Given the description of an element on the screen output the (x, y) to click on. 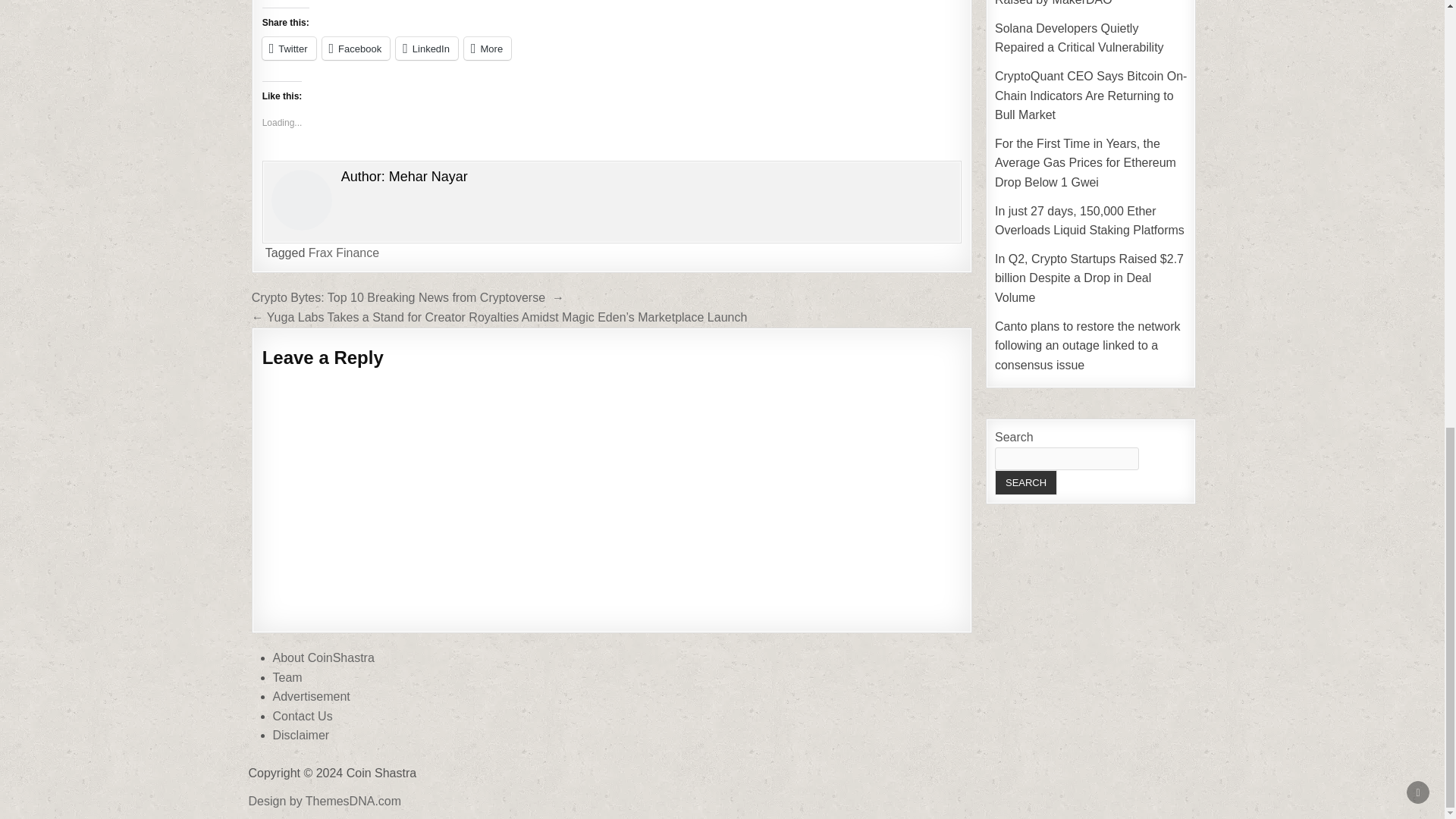
Frax Finance (343, 252)
Mehar Nayar (427, 176)
Click to share on LinkedIn (427, 47)
Click to share on Facebook (355, 47)
LinkedIn (427, 47)
Facebook (355, 47)
Click to share on Twitter (288, 47)
Twitter (288, 47)
More (487, 47)
